Given the description of an element on the screen output the (x, y) to click on. 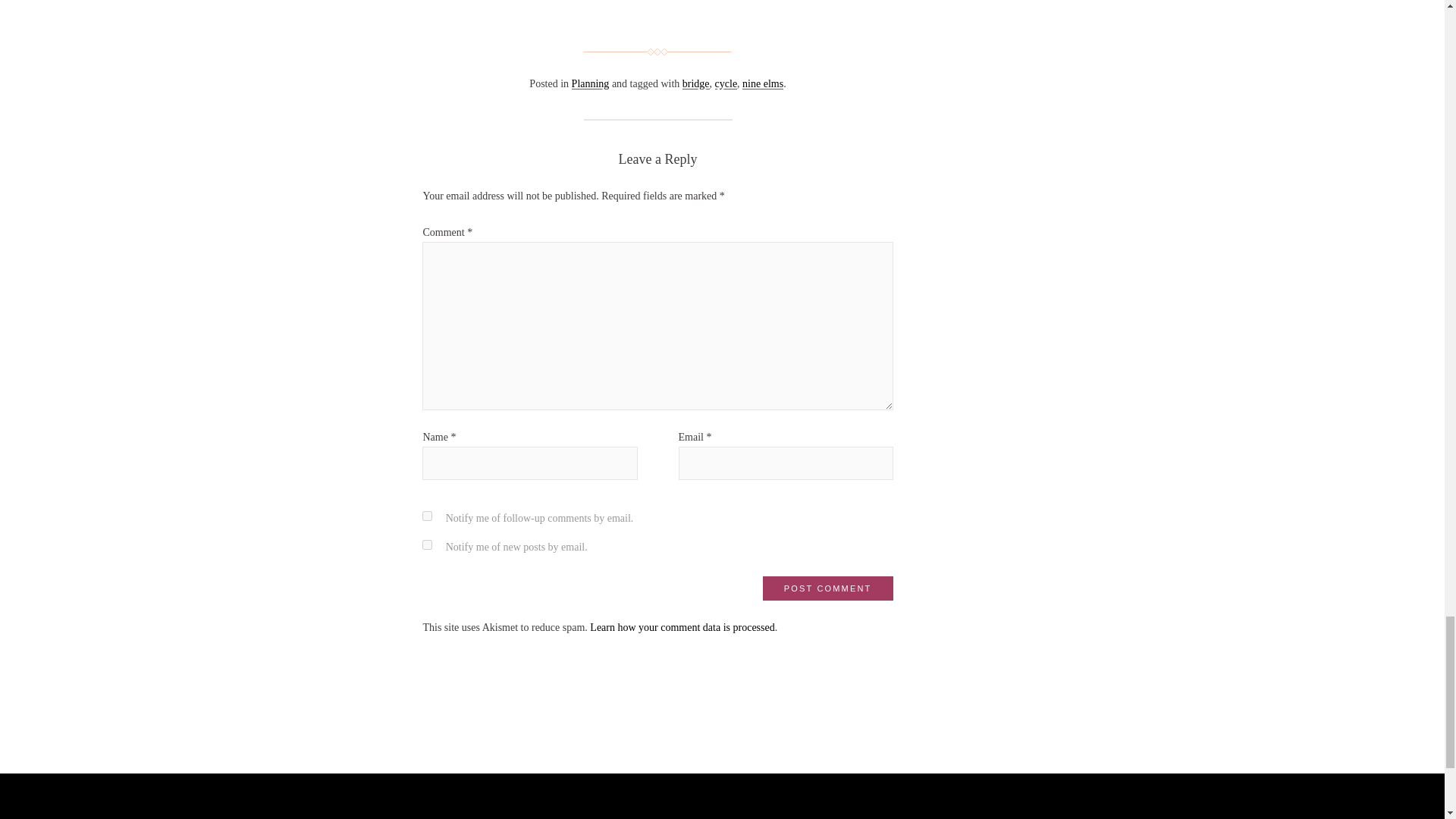
subscribe (427, 515)
Separator image (657, 51)
subscribe (427, 544)
Post Comment (827, 588)
